Given the description of an element on the screen output the (x, y) to click on. 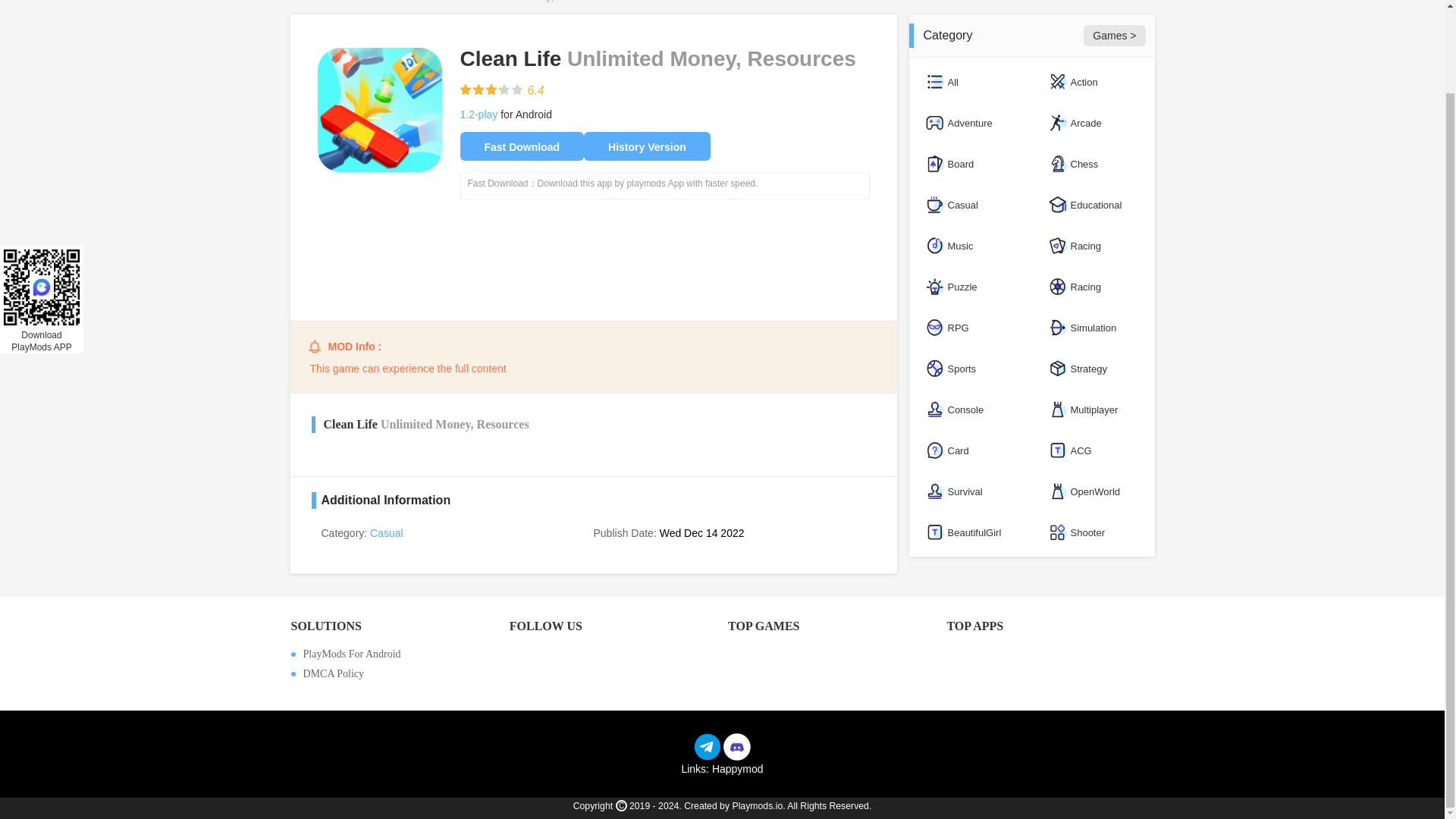
Music (969, 245)
PlayMods For Android (394, 654)
Casual (386, 532)
Action (1092, 81)
C (621, 805)
RPG (969, 327)
Card (969, 449)
Console (969, 409)
Arcade (1092, 122)
Racing (1092, 245)
Puzzle (969, 286)
Fast Download (521, 145)
Sports (969, 368)
History Version (646, 145)
Educational (1092, 204)
